Given the description of an element on the screen output the (x, y) to click on. 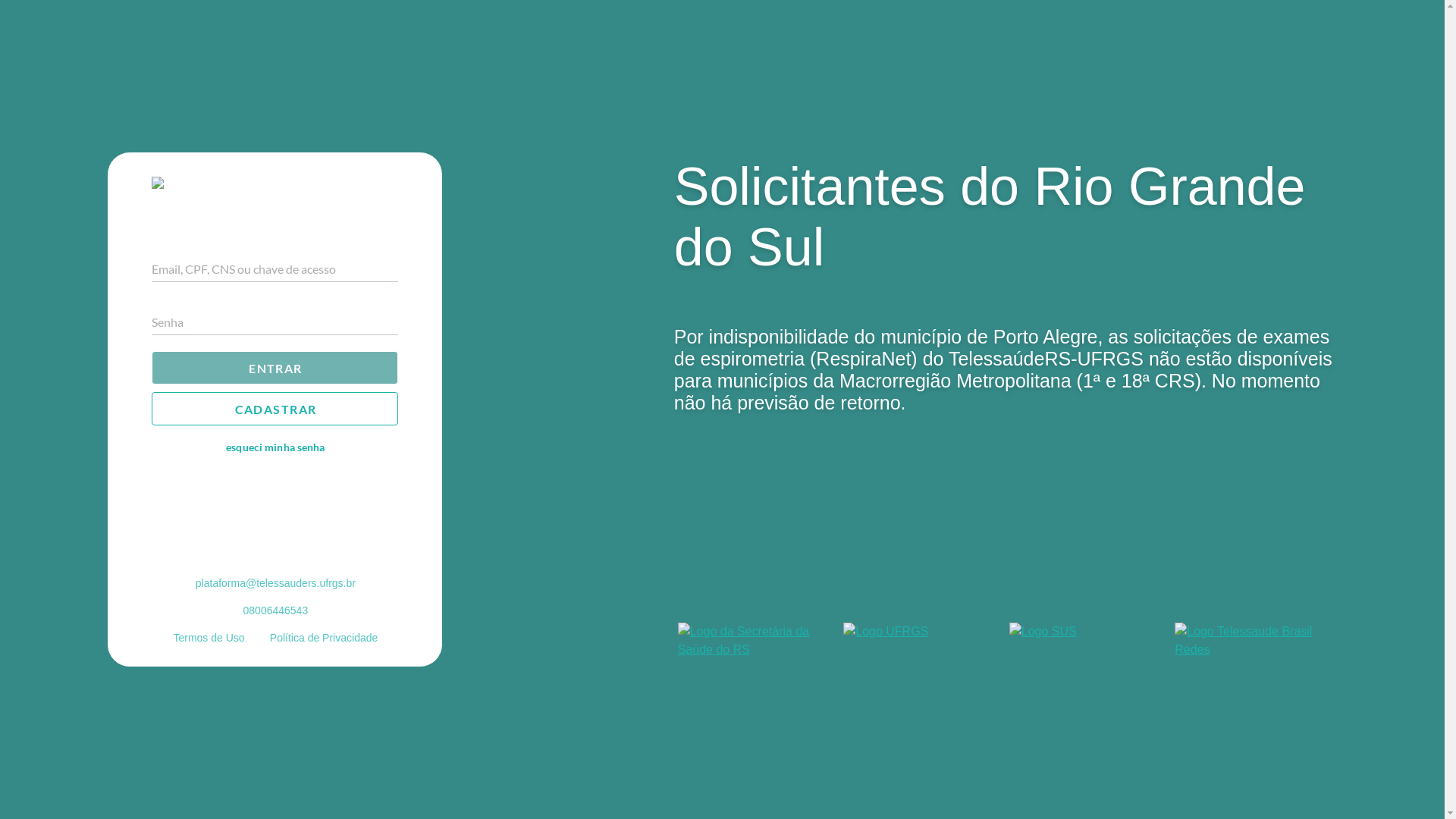
ENTRAR Element type: text (274, 367)
Termos de Uso Element type: text (208, 637)
CADASTRAR Element type: text (274, 408)
esqueci minha senha Element type: text (275, 446)
plataforma@telessauders.ufrgs.br Element type: text (274, 582)
08006446543 Element type: text (274, 610)
